Given the description of an element on the screen output the (x, y) to click on. 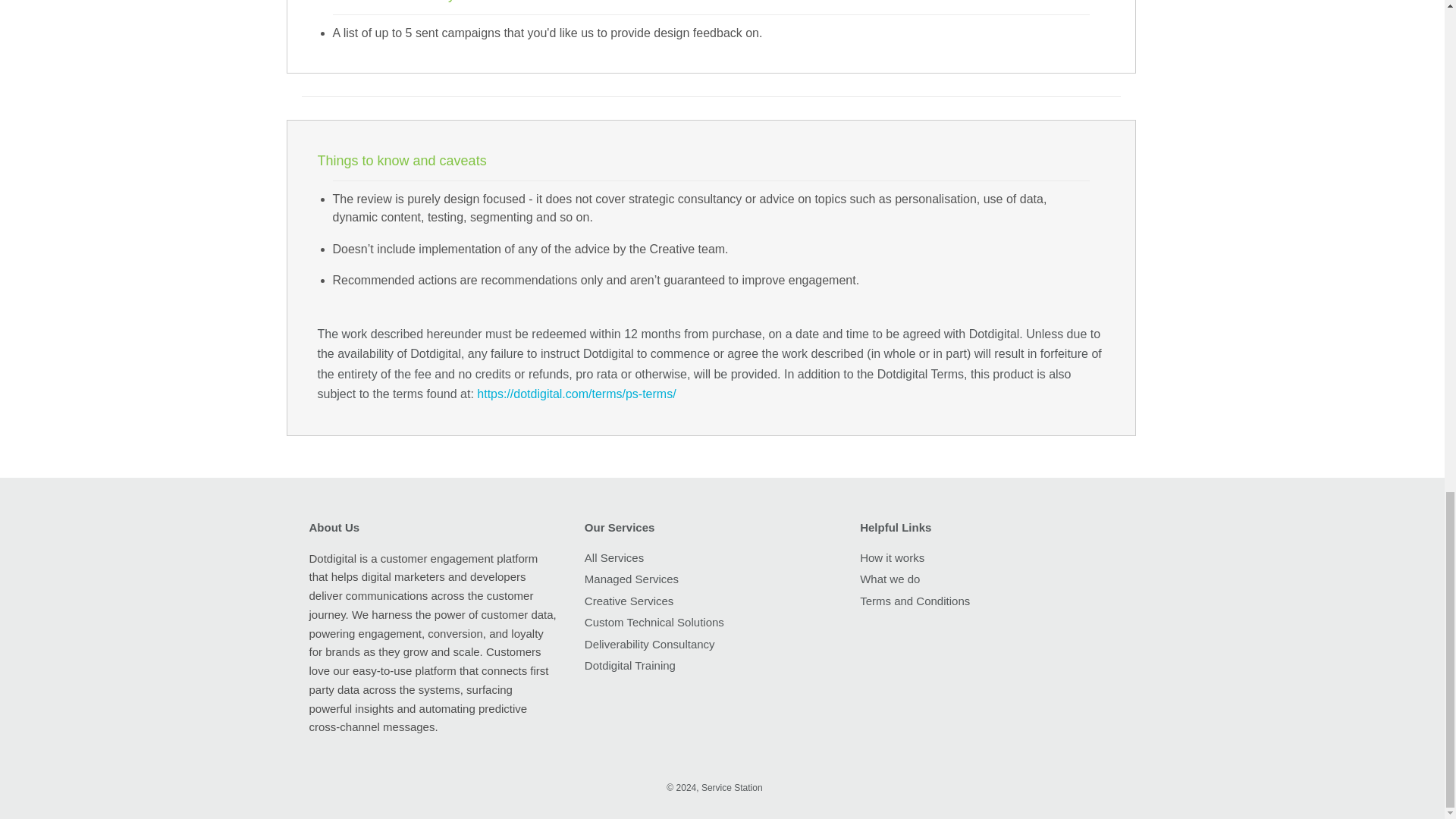
PS Terms (576, 393)
How it works (892, 557)
Deliverability Consultancy (649, 644)
All Services (614, 557)
Dotdigital Training (630, 665)
Custom Technical Solutions (654, 621)
Managed Services (631, 578)
Terms and Conditions (914, 600)
What we do (890, 578)
Creative Services (629, 600)
